Given the description of an element on the screen output the (x, y) to click on. 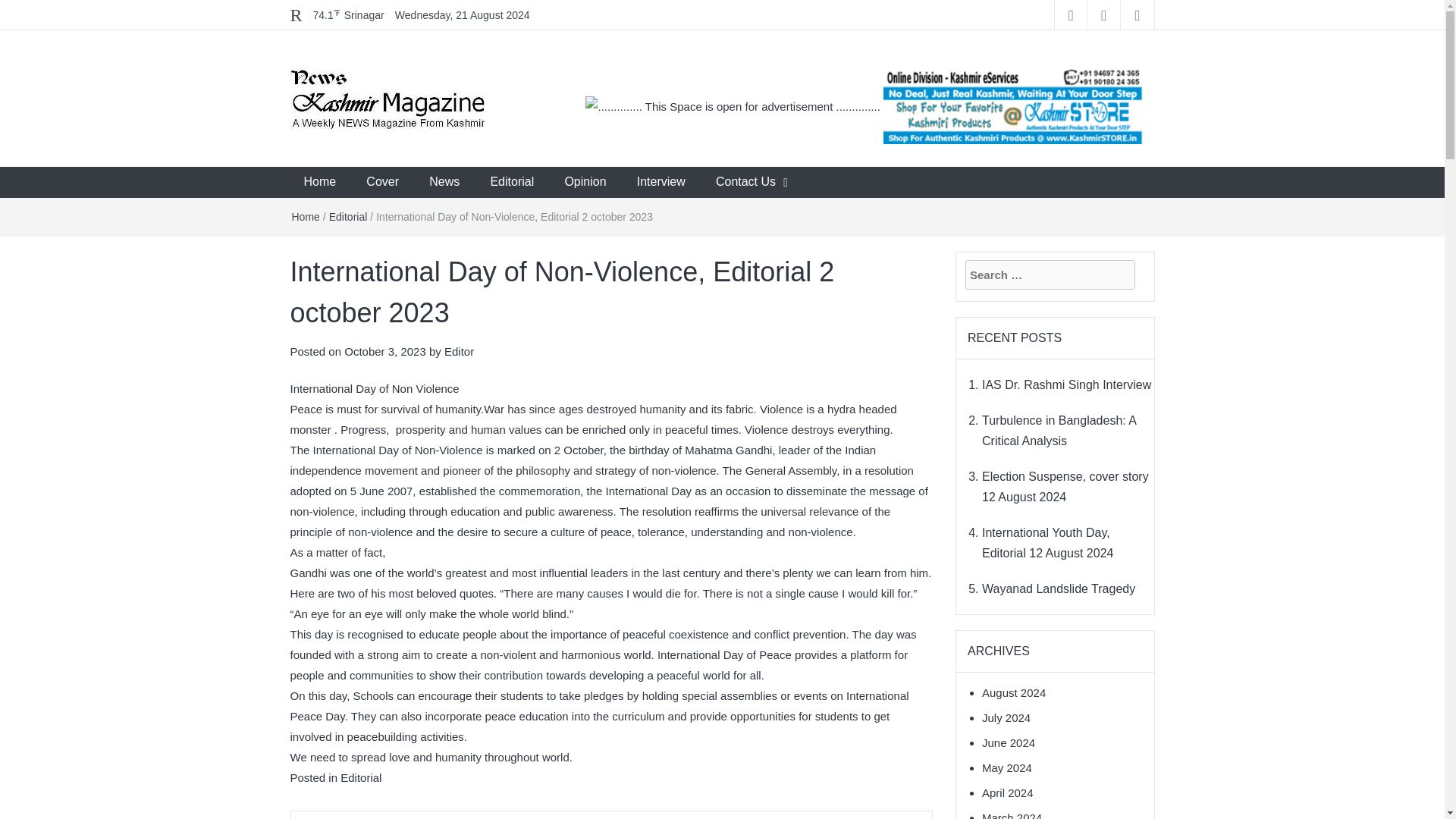
262x220 Ads (1012, 97)
Editorial (348, 216)
Home (304, 216)
Editor (459, 350)
Cover (382, 182)
Opinion (585, 182)
Editorial (360, 777)
October 3, 2023 (384, 350)
Home (319, 182)
